Given the description of an element on the screen output the (x, y) to click on. 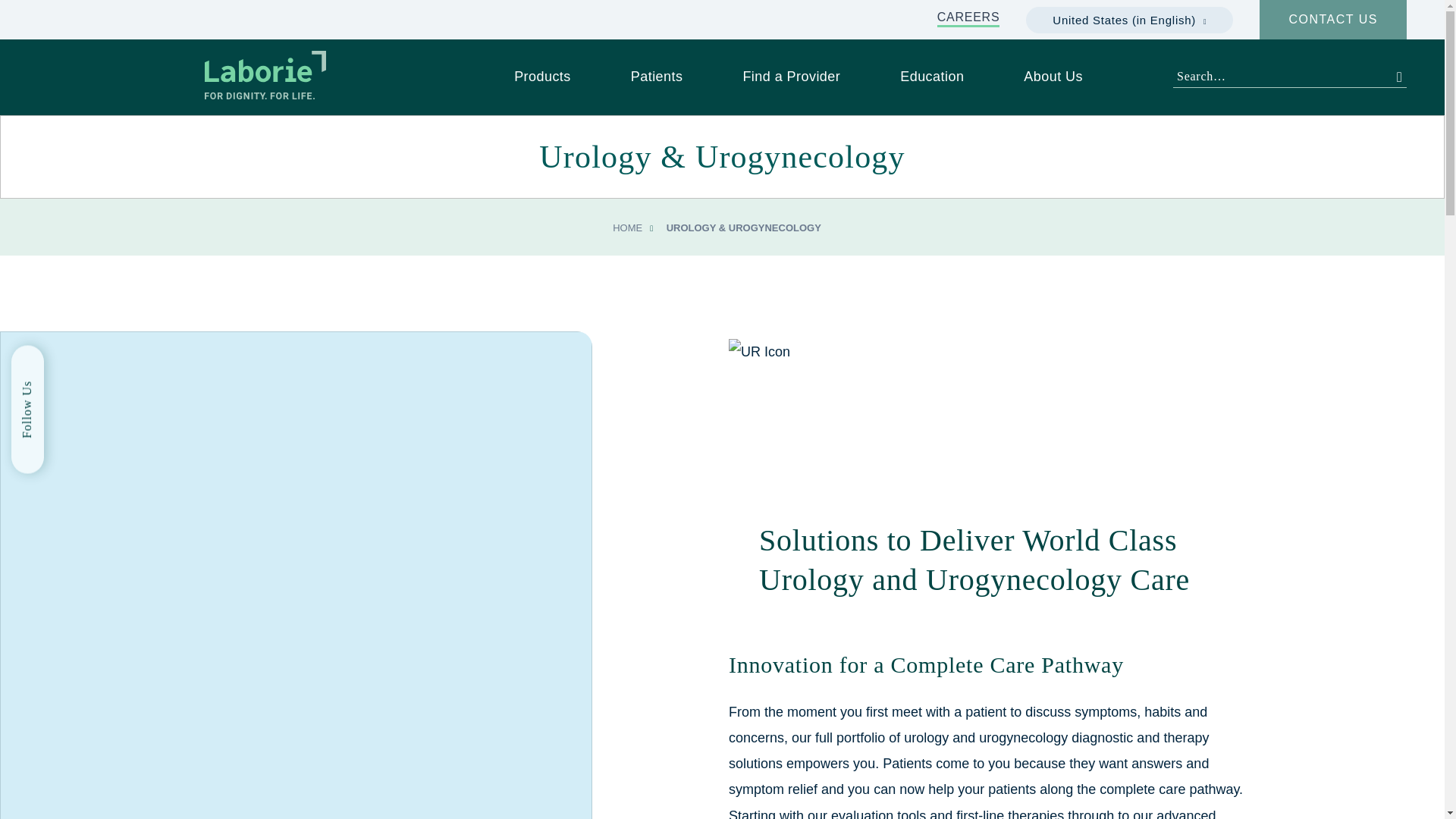
CAREERS (968, 18)
Products (542, 81)
CONTACT US (1332, 19)
